Given the description of an element on the screen output the (x, y) to click on. 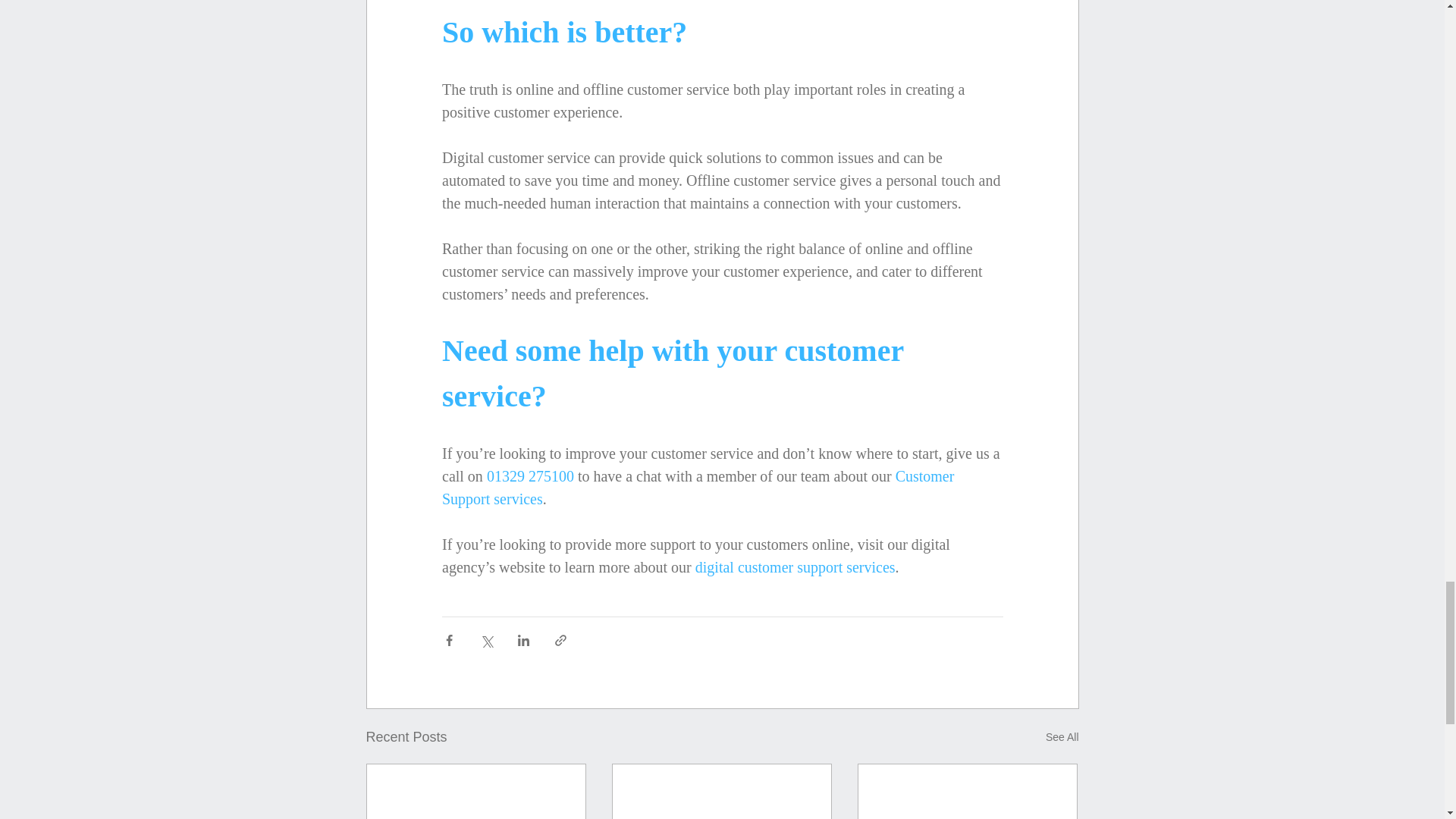
See All (1061, 737)
digital customer support services (794, 566)
01329 275100 (529, 475)
Customer Support services (698, 486)
